Given the description of an element on the screen output the (x, y) to click on. 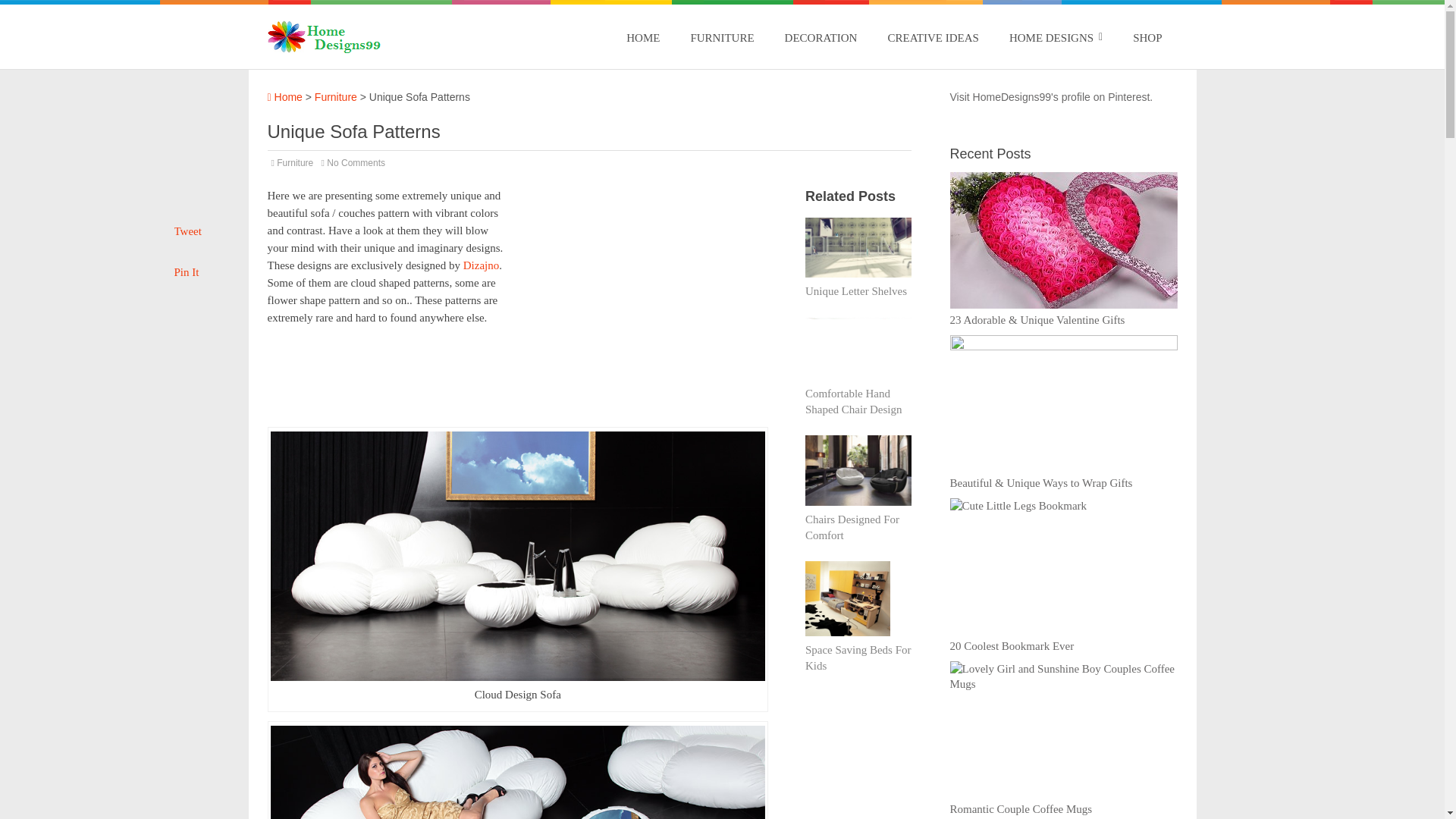
No Comments (355, 163)
HOME DESIGNS (1055, 37)
FURNITURE (722, 37)
 Home (283, 96)
HOME (642, 37)
DECORATION (820, 37)
Furniture (335, 96)
Space Saving Beds For Kids (858, 657)
Unique Letter Shelves (856, 291)
Furniture (294, 163)
Pin It (186, 272)
Comfortable Hand Shaped Chair Design (853, 401)
Unique Letter Shelves (856, 291)
Tweet (188, 231)
